Given the description of an element on the screen output the (x, y) to click on. 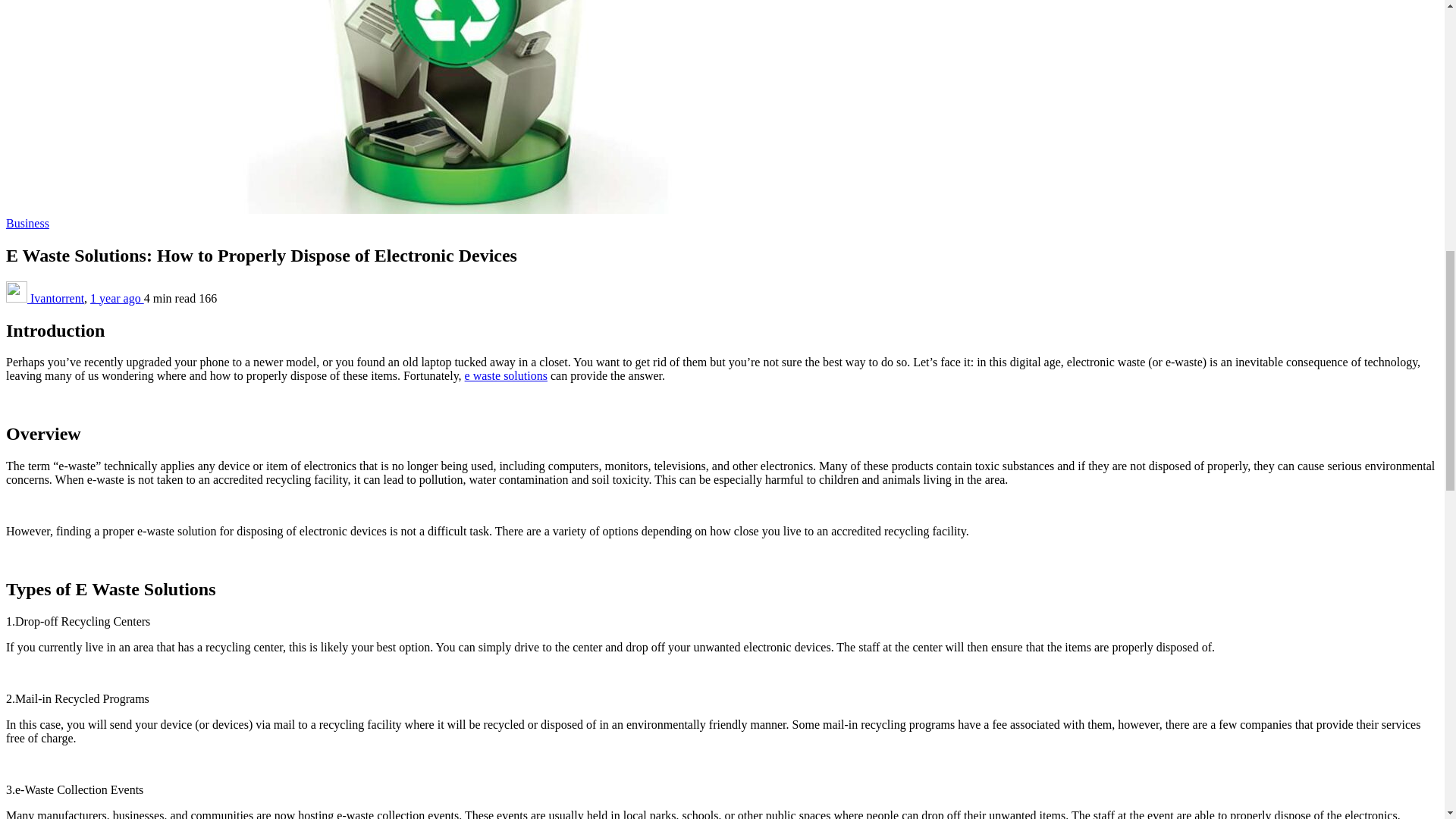
Business (27, 223)
e waste solutions (505, 375)
1 year ago (117, 297)
Ivantorrent (57, 297)
